Given the description of an element on the screen output the (x, y) to click on. 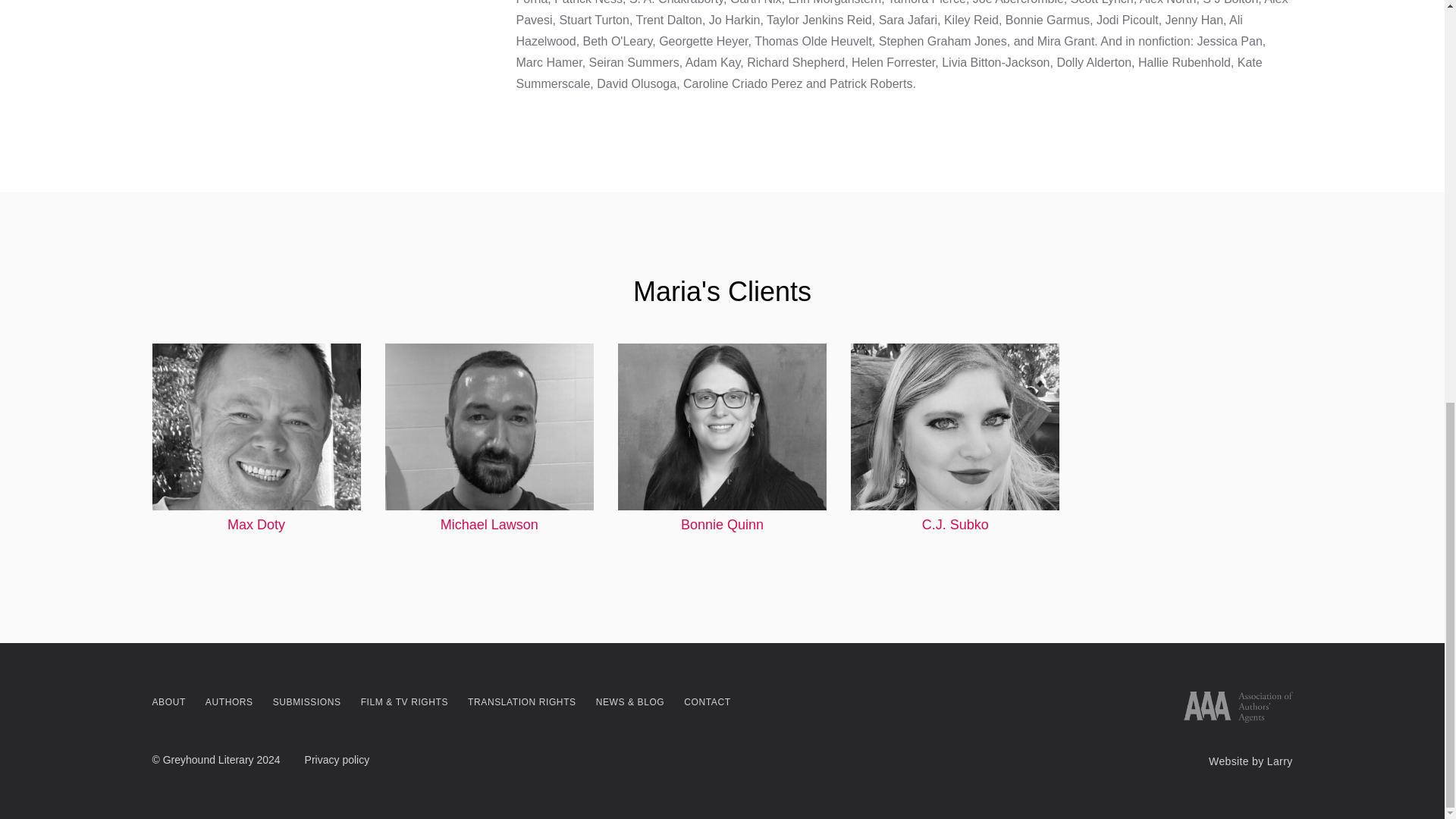
SUBMISSIONS (306, 701)
C.J. Subko (954, 438)
Max Doty (255, 438)
Website by Larry (1250, 761)
Privacy policy (336, 759)
TRANSLATION RIGHTS (521, 701)
AUTHORS (229, 701)
ABOUT (167, 701)
Bonnie Quinn (722, 438)
CONTACT (707, 701)
